Given the description of an element on the screen output the (x, y) to click on. 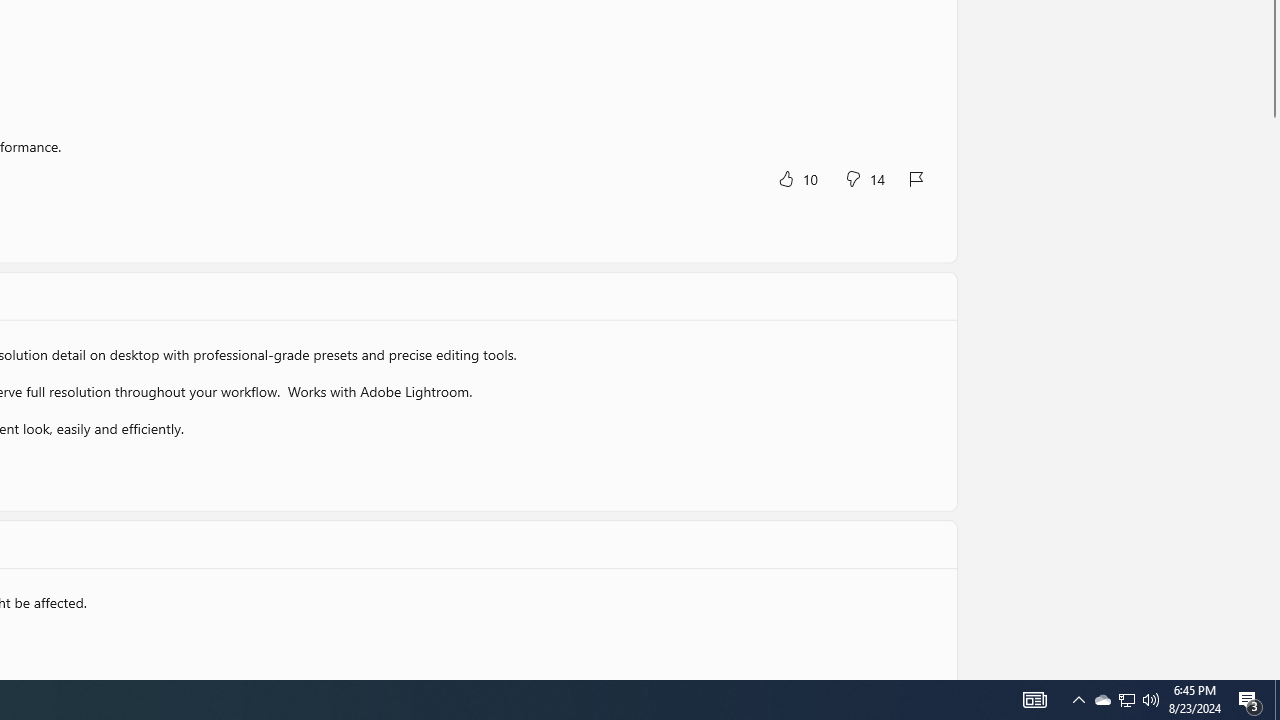
Terms of transaction (763, 539)
Vertical Large Increase (1272, 568)
VSCO AI Photo Editor support (509, 520)
Vertical Small Increase (1272, 672)
VSCO AI Photo Editor privacy policy (811, 520)
Photo & video (177, 404)
Contact information (478, 539)
